Given the description of an element on the screen output the (x, y) to click on. 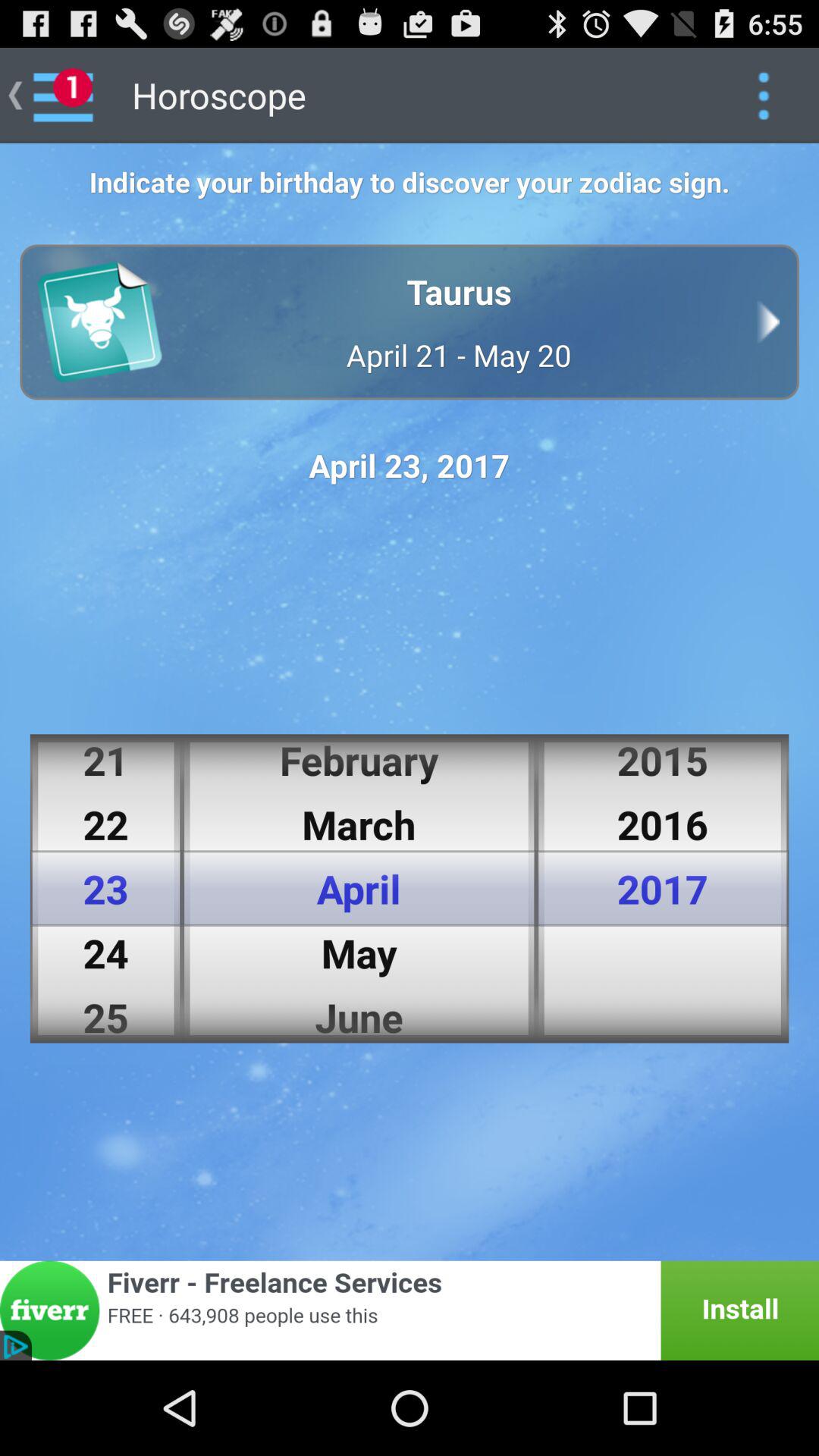
fiverr banner advertisement (409, 1310)
